Given the description of an element on the screen output the (x, y) to click on. 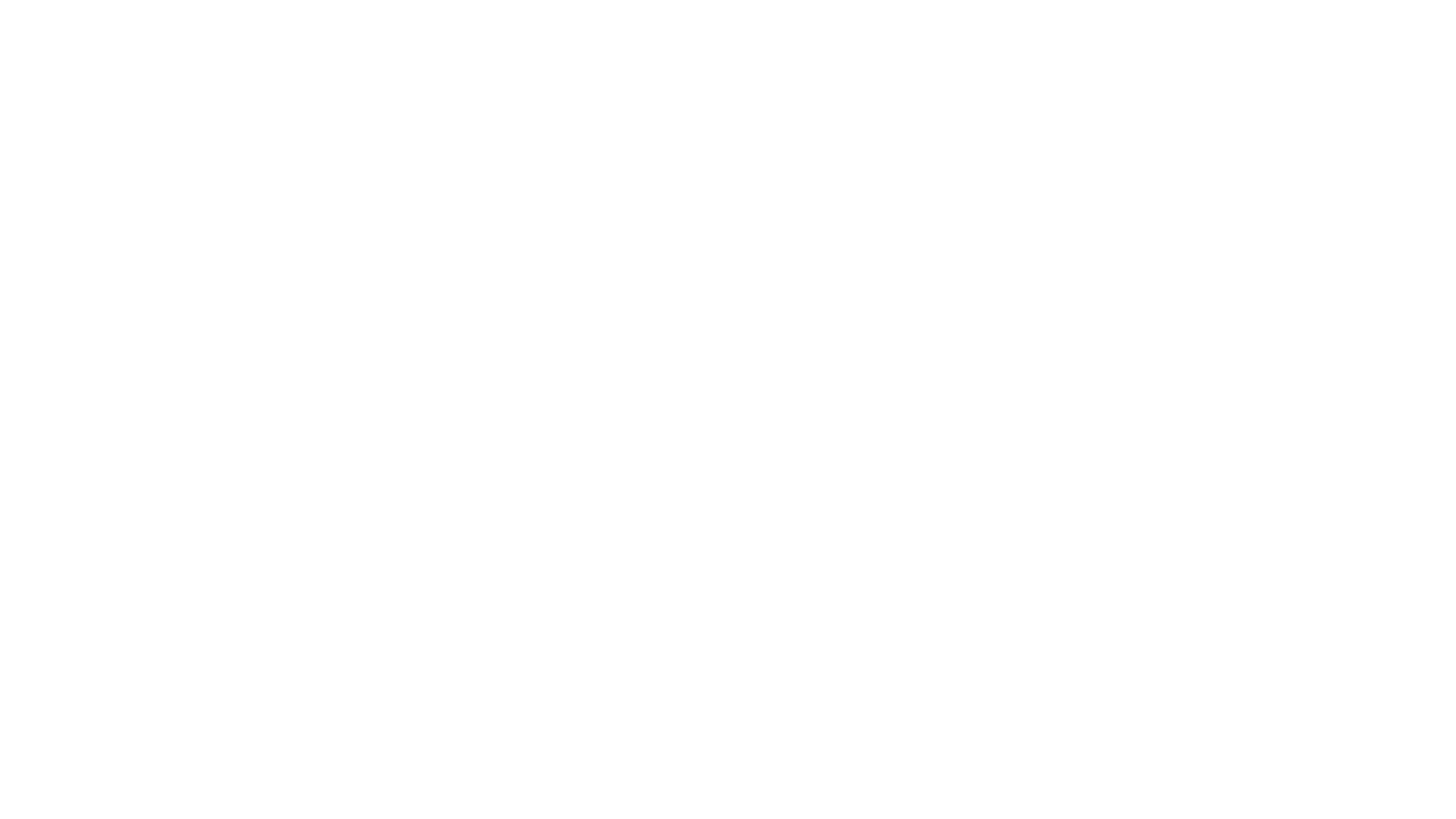
Replace All (752, 69)
Find what (80, 33)
Replace with (75, 53)
Find what (75, 33)
Match half/full width forms (52, 431)
Find Next (752, 25)
Match case (27, 409)
Replace with (80, 54)
Context help (1413, 8)
Replace (752, 55)
Replace with (728, 409)
Find whole words only (45, 420)
